Given the description of an element on the screen output the (x, y) to click on. 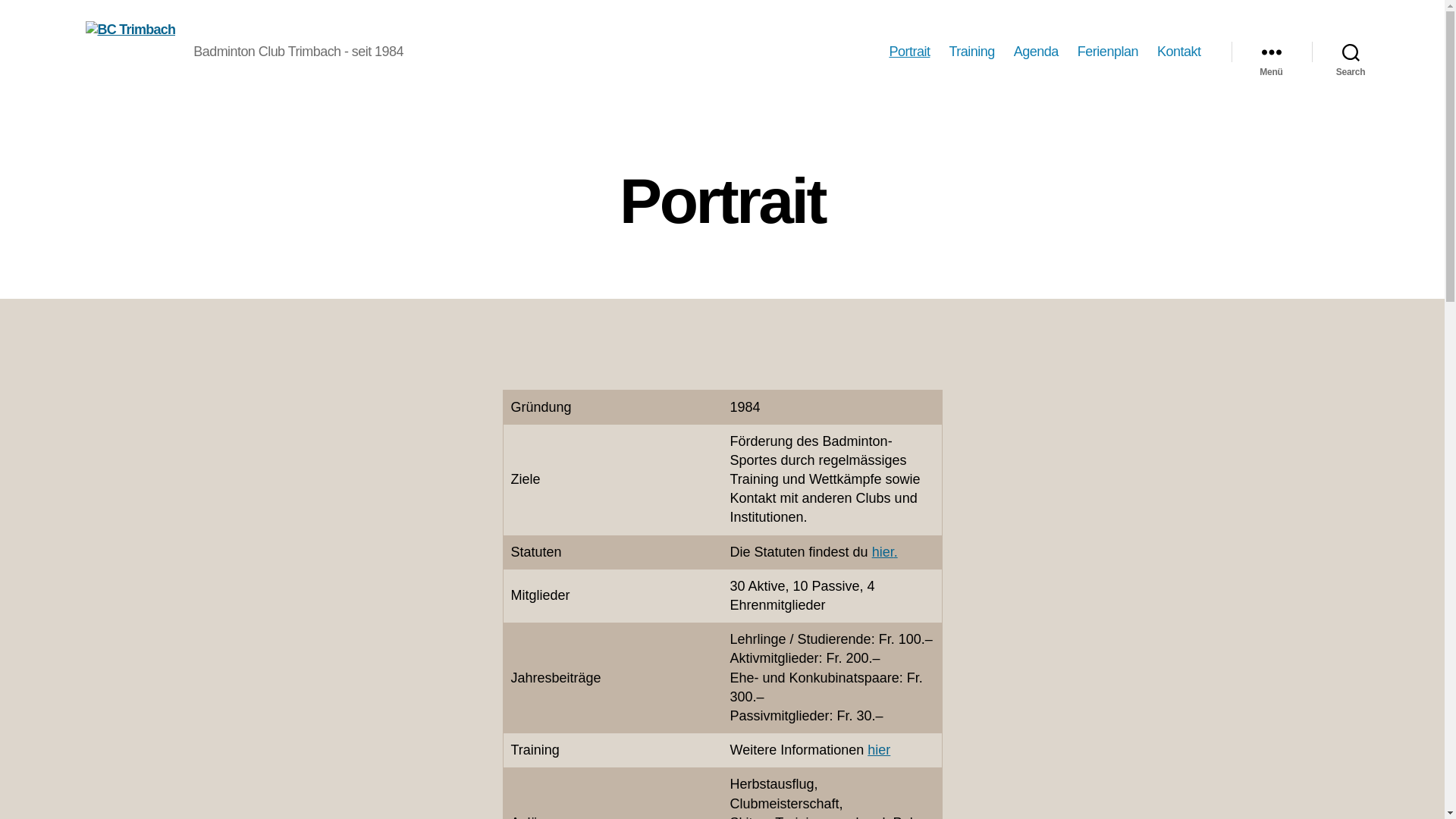
Kontakt Element type: text (1179, 51)
hier Element type: text (878, 749)
Portrait Element type: text (908, 51)
Training Element type: text (971, 51)
Search Element type: text (1350, 52)
Ferienplan Element type: text (1107, 51)
Agenda Element type: text (1035, 51)
. Element type: text (895, 551)
hier Element type: text (883, 551)
